Given the description of an element on the screen output the (x, y) to click on. 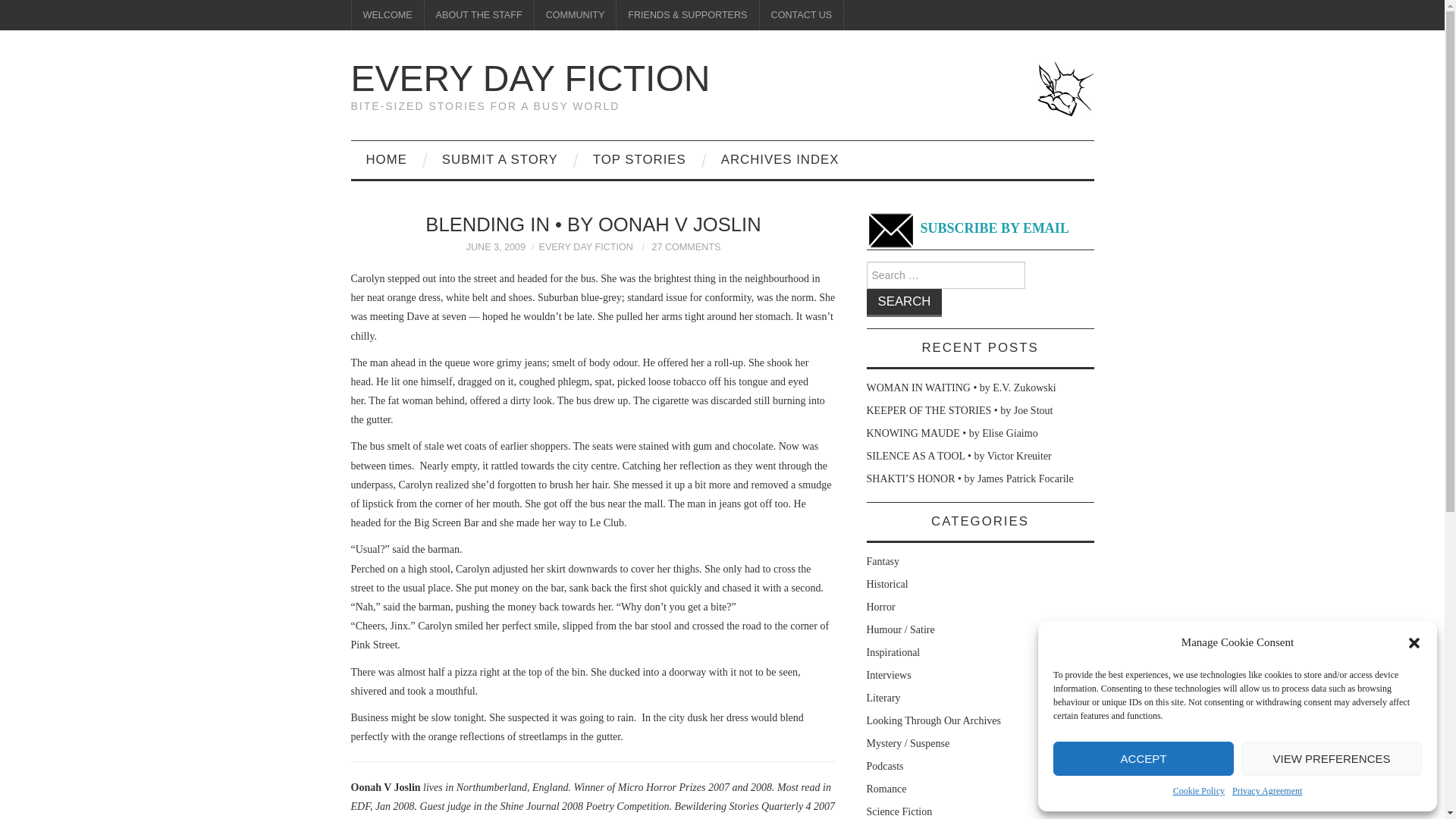
VIEW PREFERENCES (1331, 758)
ACCEPT (1142, 758)
TOP STORIES (639, 159)
JUNE 3, 2009 (495, 246)
27 COMMENTS (685, 246)
Search for: (945, 275)
  SUBSCRIBE BY EMAIL (967, 229)
EVERY DAY FICTION (585, 246)
ABOUT THE STAFF (479, 15)
SUBMIT A STORY (499, 159)
Search (904, 302)
Search (904, 302)
Every Day Fiction (530, 78)
Search (904, 302)
WELCOME (387, 15)
